Given the description of an element on the screen output the (x, y) to click on. 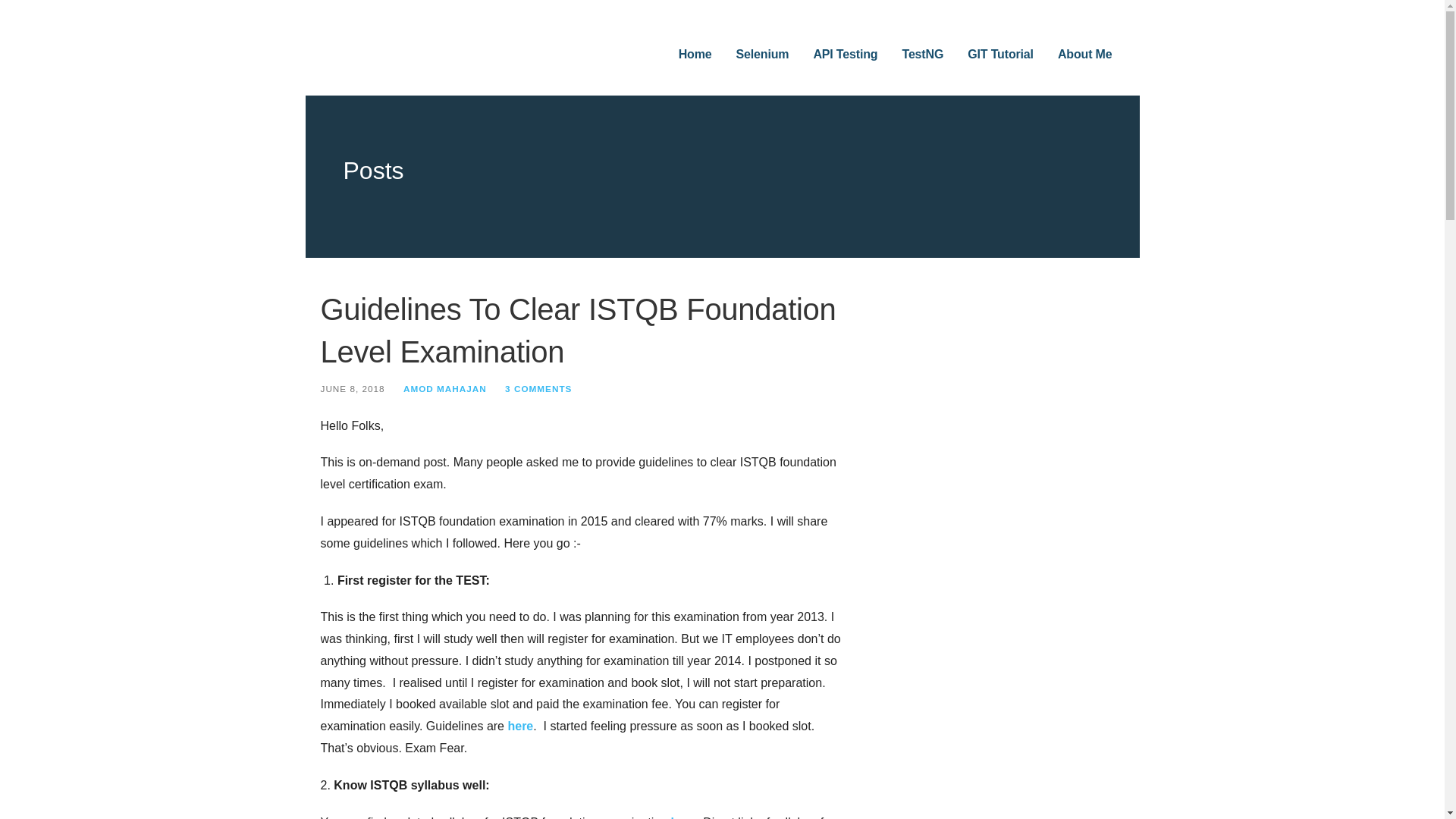
API Testing (844, 55)
Posts by Amod Mahajan (444, 388)
About Me (1085, 55)
here (682, 817)
TestNG (922, 55)
AMOD MAHAJAN (444, 388)
Home (694, 55)
GIT Tutorial (1000, 55)
here (519, 725)
3 COMMENTS (538, 388)
